Given the description of an element on the screen output the (x, y) to click on. 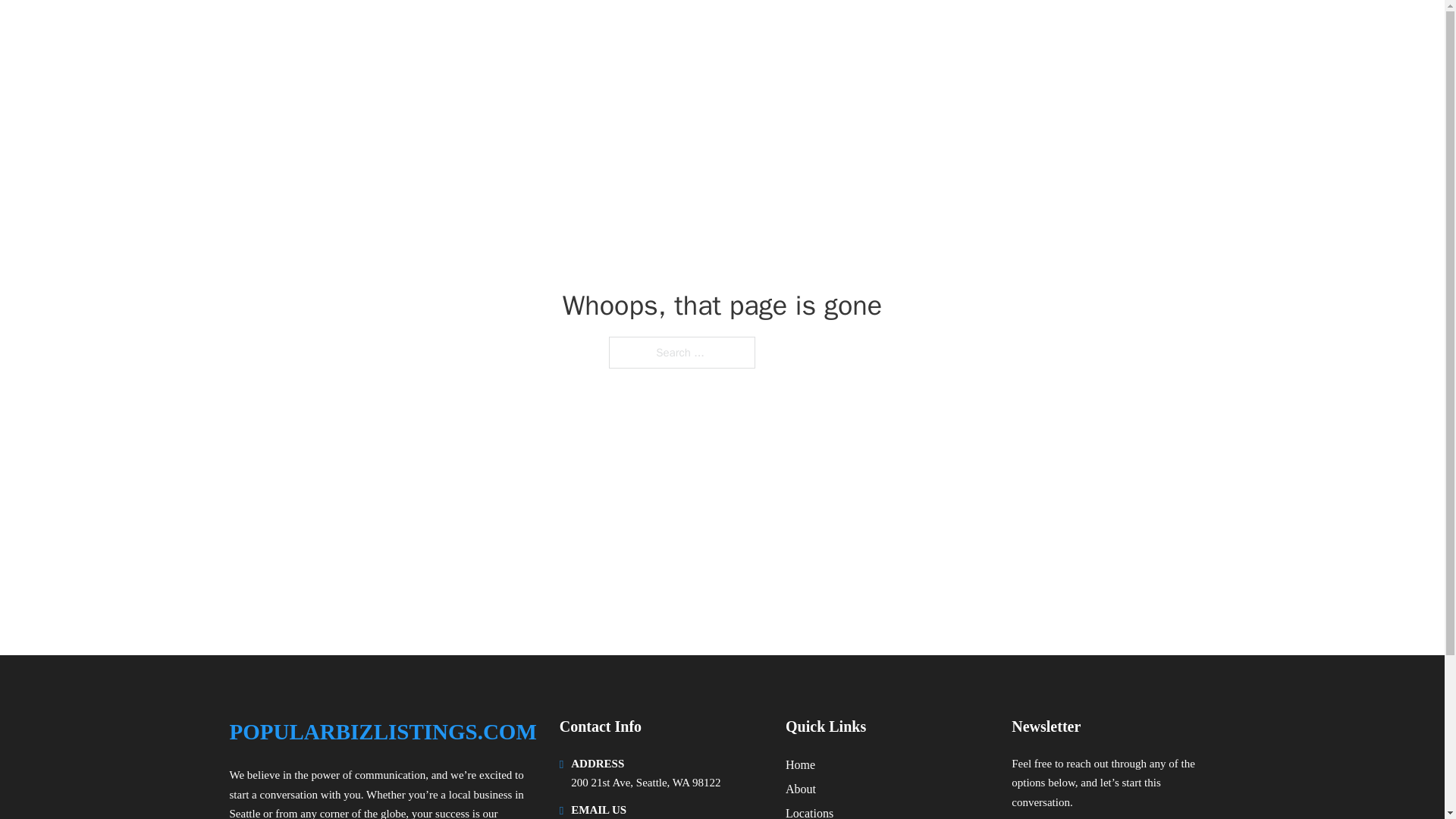
HOME (1025, 31)
Home (800, 764)
About (800, 788)
POPULARBIZLISTINGS.COM (397, 31)
Locations (809, 811)
LOCATIONS (1098, 31)
POPULARBIZLISTINGS.COM (381, 732)
